Given the description of an element on the screen output the (x, y) to click on. 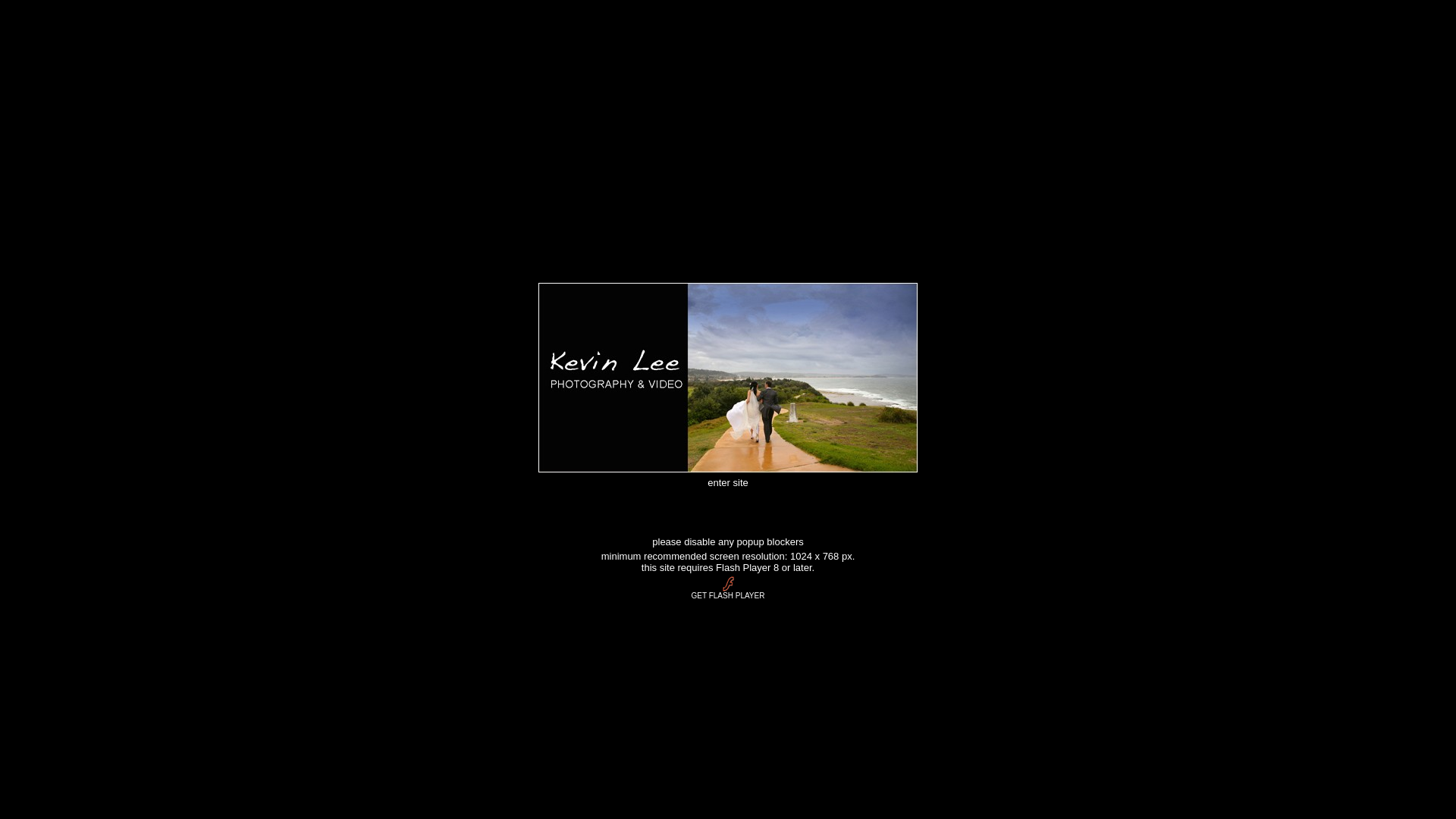
enter site Element type: text (727, 480)
GET FLASH PLAYER Element type: text (728, 590)
